Given the description of an element on the screen output the (x, y) to click on. 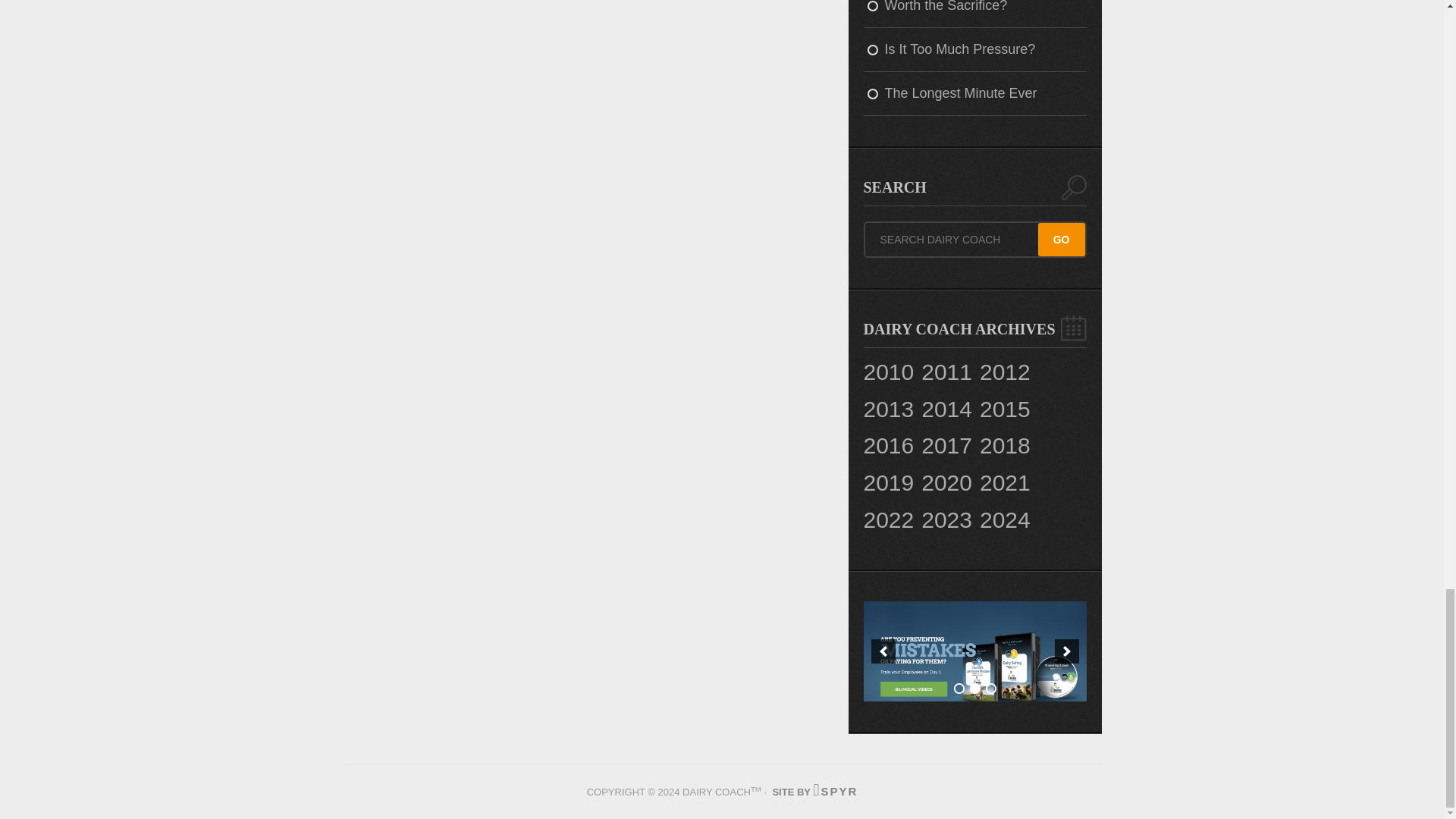
Worth the Sacrifice? (974, 13)
Go (1061, 239)
Go (1061, 239)
Is It Too Much Pressure? (974, 49)
2012 (1004, 372)
Are you preventing mistakes? (974, 651)
2011 (946, 372)
2017 (946, 446)
The Longest Minute Ever (974, 94)
Go (1061, 239)
2014 (946, 409)
2010 (888, 372)
2016 (888, 446)
2015 (1004, 409)
2013 (888, 409)
